Given the description of an element on the screen output the (x, y) to click on. 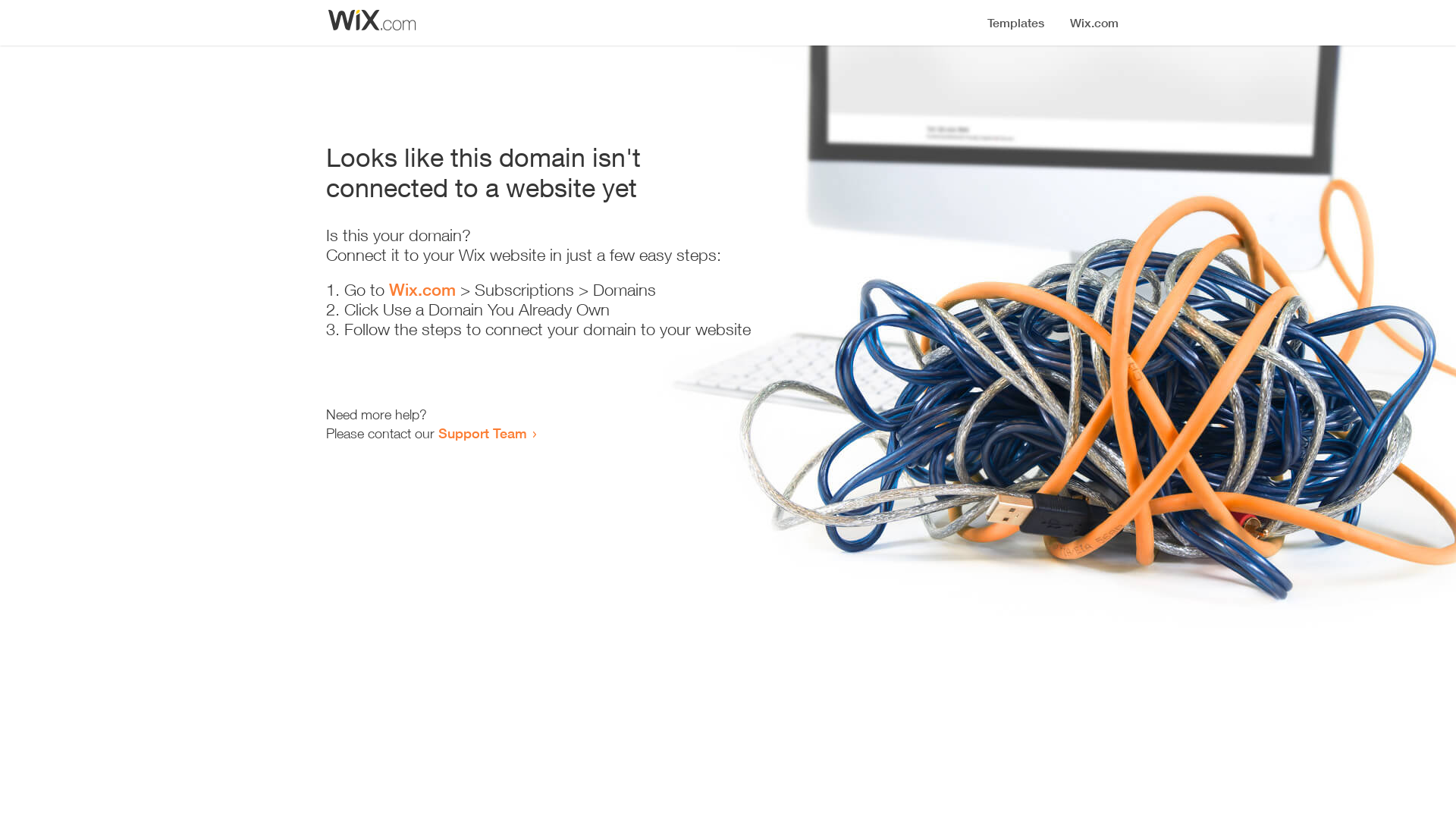
Support Team Element type: text (482, 432)
Wix.com Element type: text (422, 289)
